Given the description of an element on the screen output the (x, y) to click on. 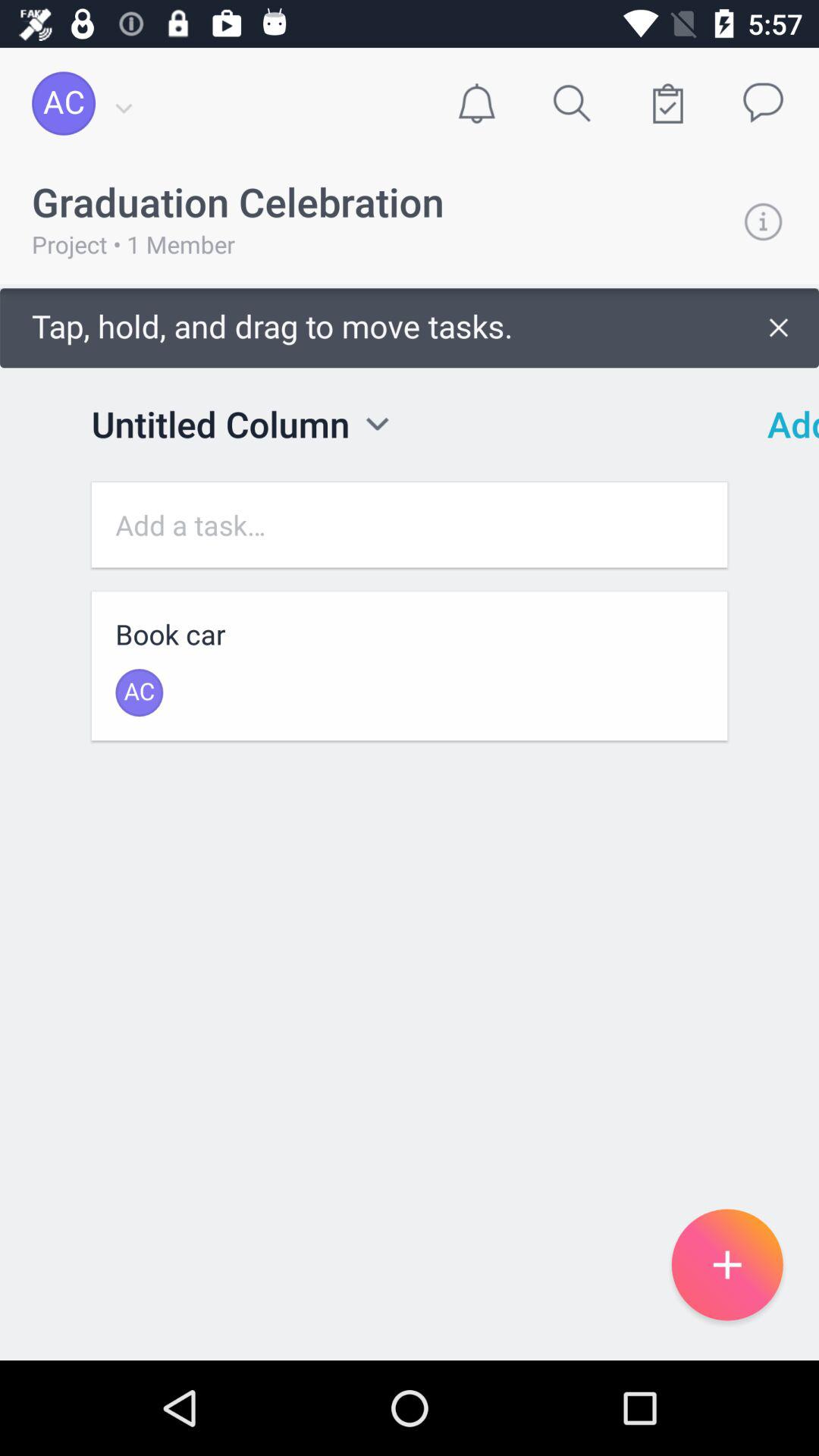
choose item next to tap hold and item (783, 423)
